Given the description of an element on the screen output the (x, y) to click on. 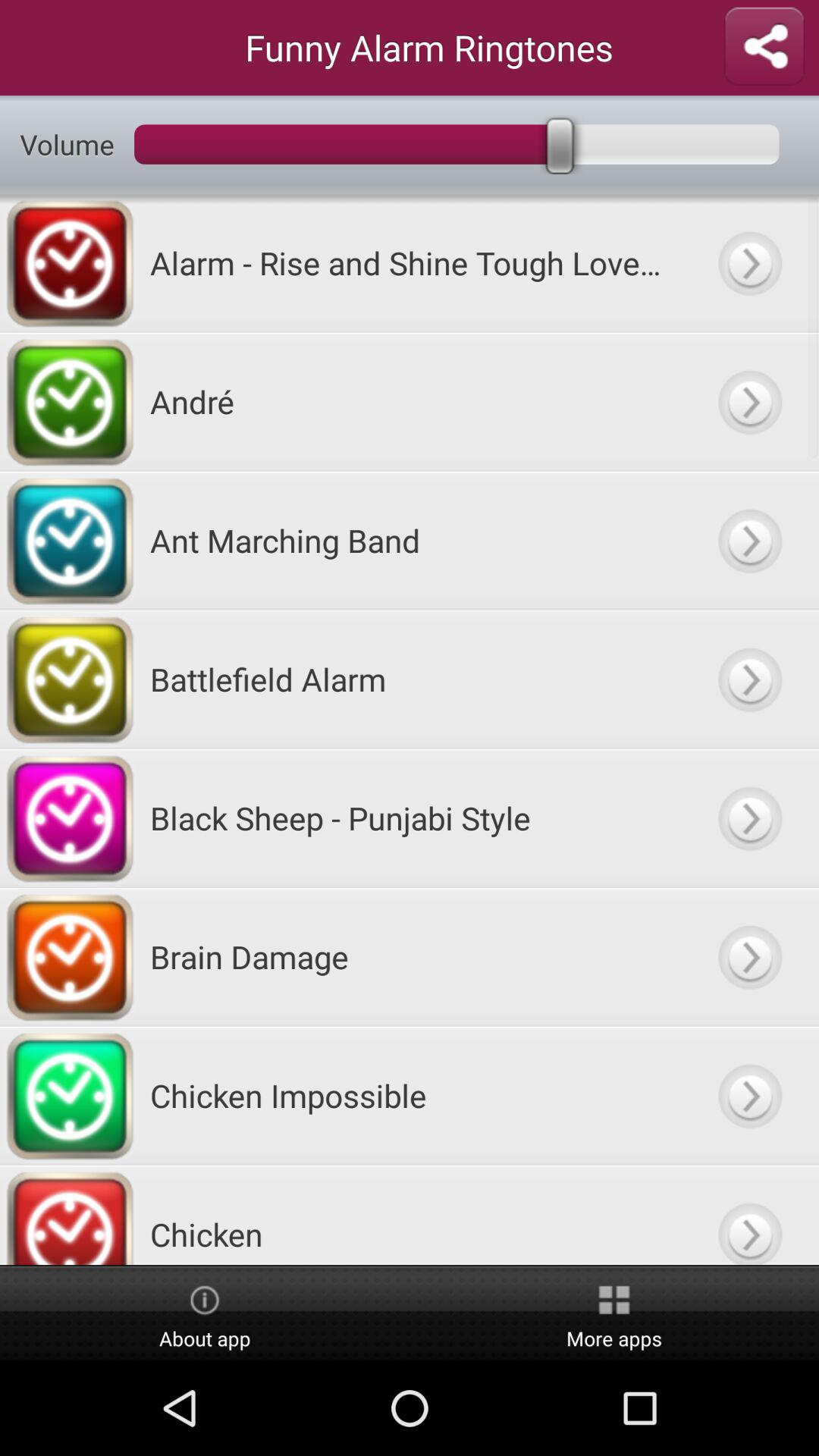
go to next (749, 679)
